Given the description of an element on the screen output the (x, y) to click on. 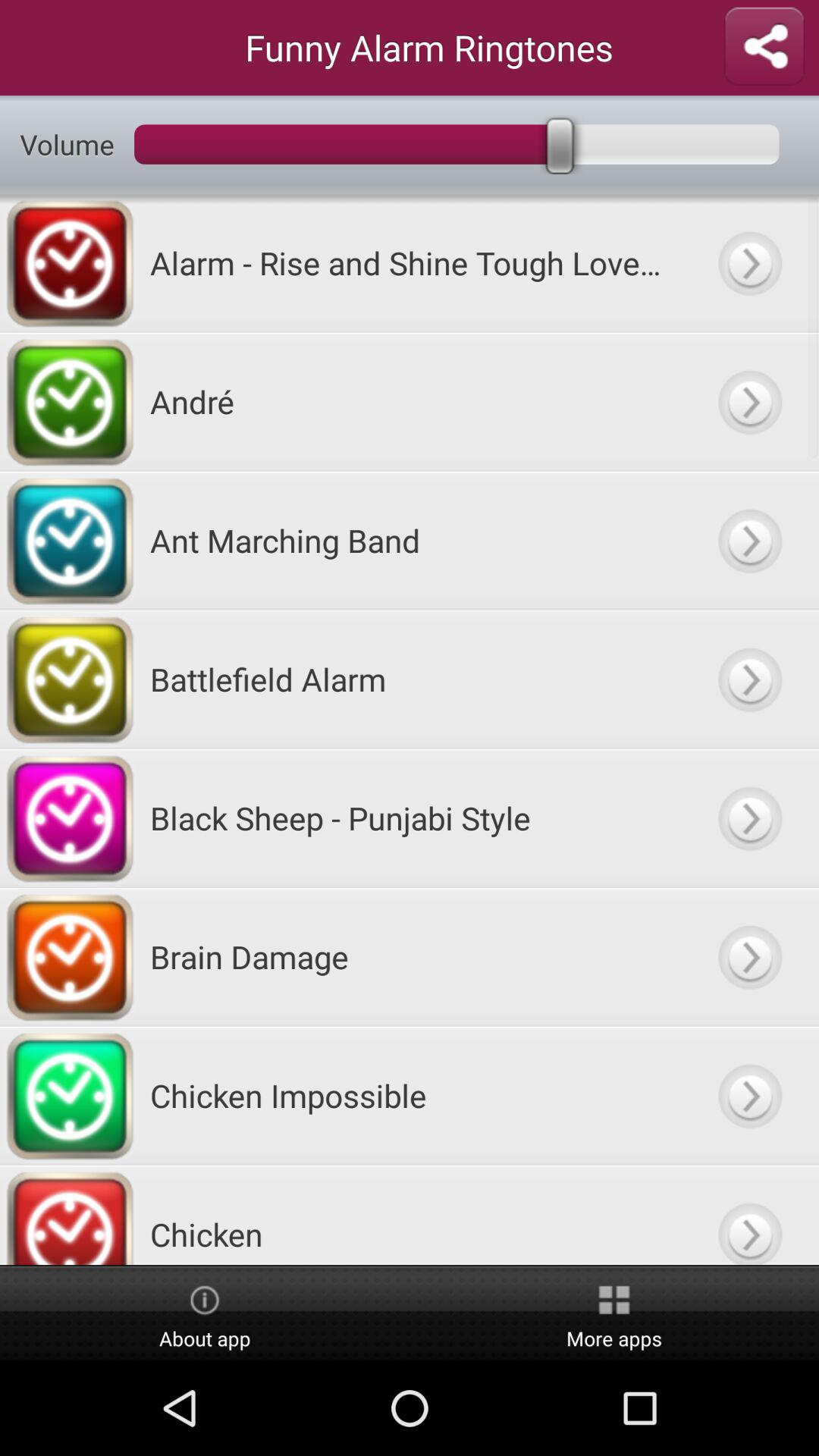
go to next (749, 679)
